Given the description of an element on the screen output the (x, y) to click on. 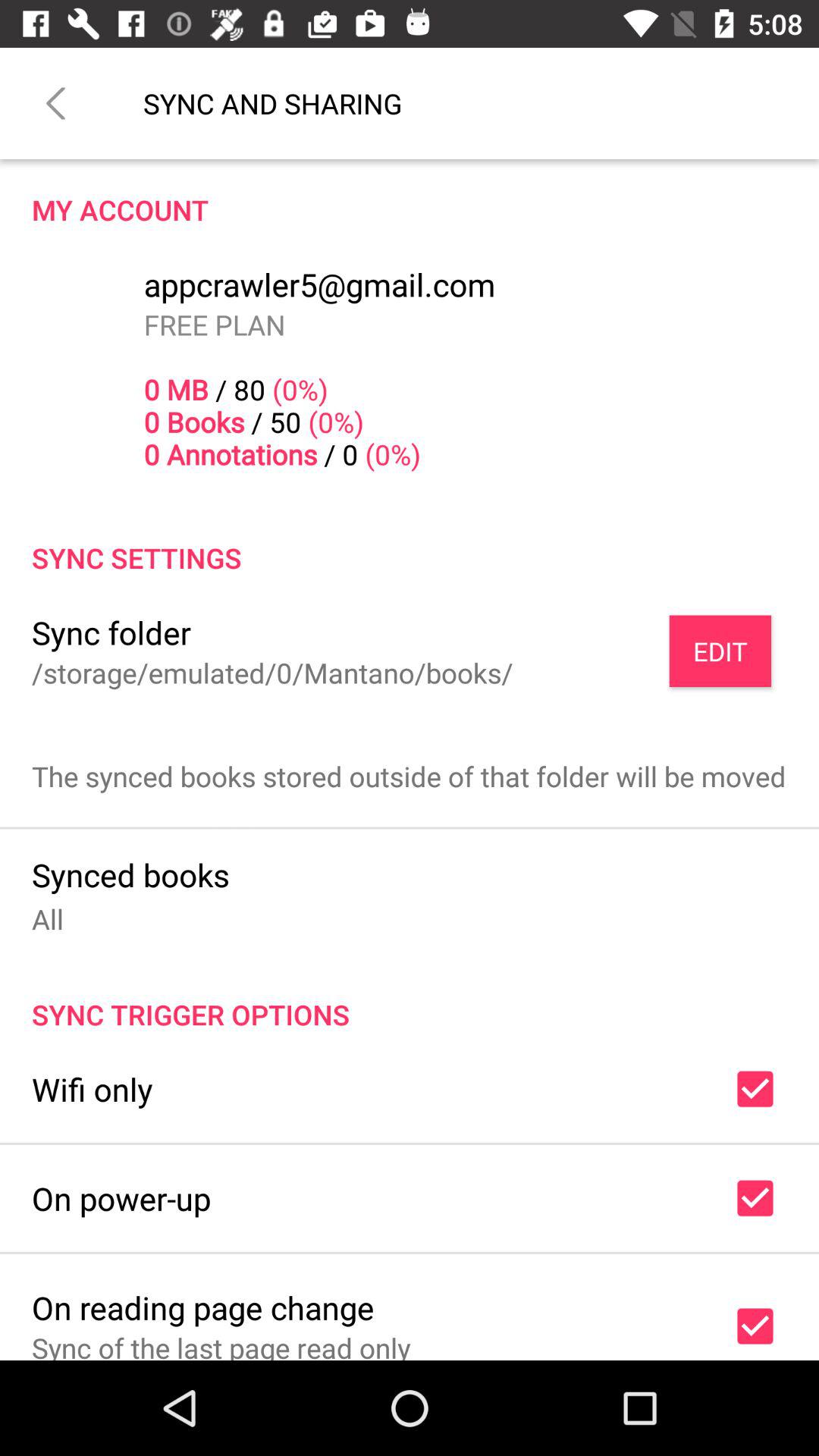
turn off the icon on the right (720, 651)
